Given the description of an element on the screen output the (x, y) to click on. 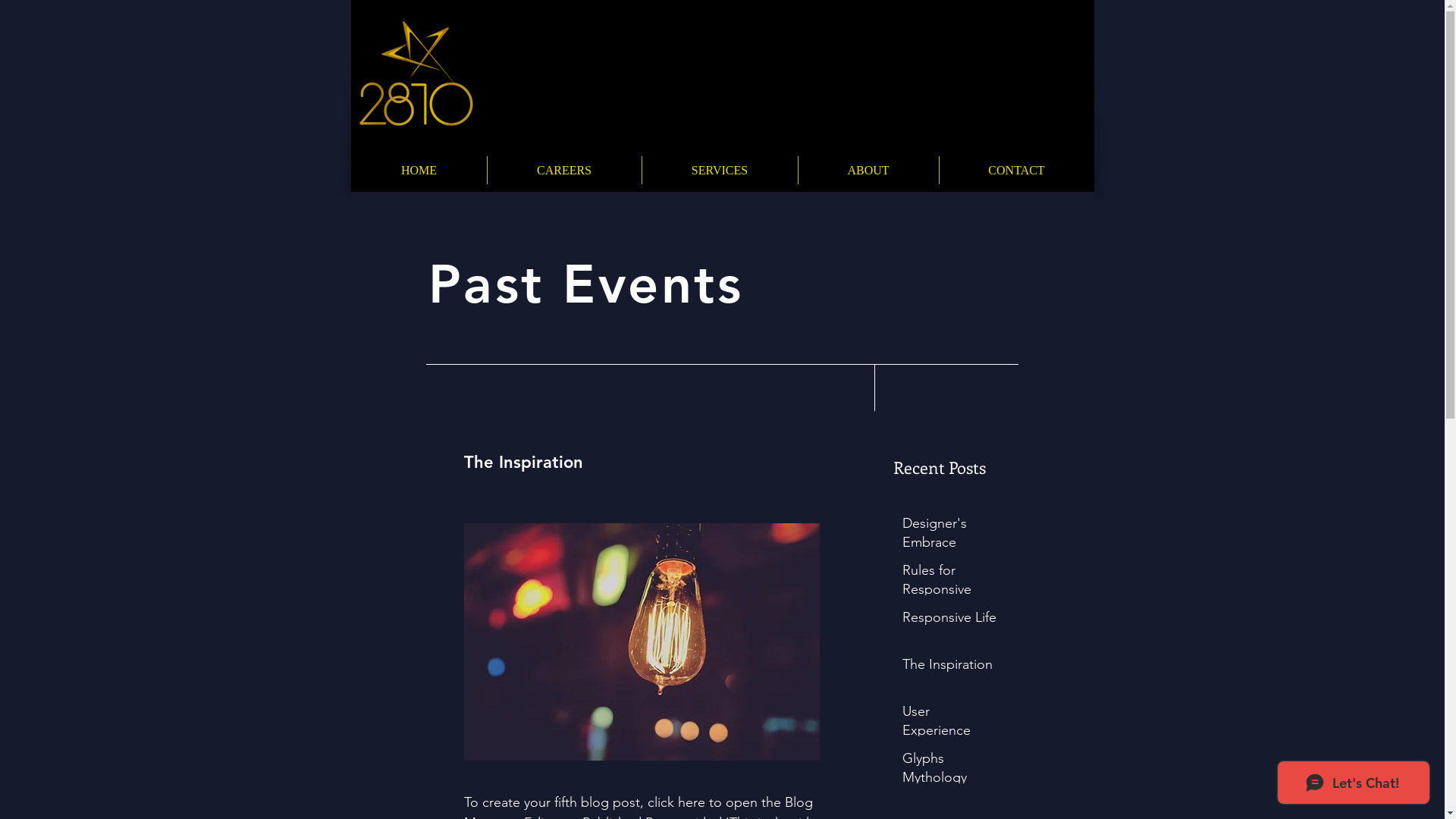
User Experience Element type: text (950, 724)
The Inspiration Element type: text (950, 667)
ABOUT Element type: text (867, 170)
CAREERS Element type: text (563, 170)
Glyphs Mythology Element type: text (950, 771)
Responsive Life Element type: text (950, 620)
SERVICES Element type: text (719, 170)
HOME Element type: text (418, 170)
2810_edited.jpg Element type: hover (413, 73)
Rules for Responsive Element type: text (950, 583)
Designer's Embrace Element type: text (950, 536)
CONTACT Element type: text (1015, 170)
